Given the description of an element on the screen output the (x, y) to click on. 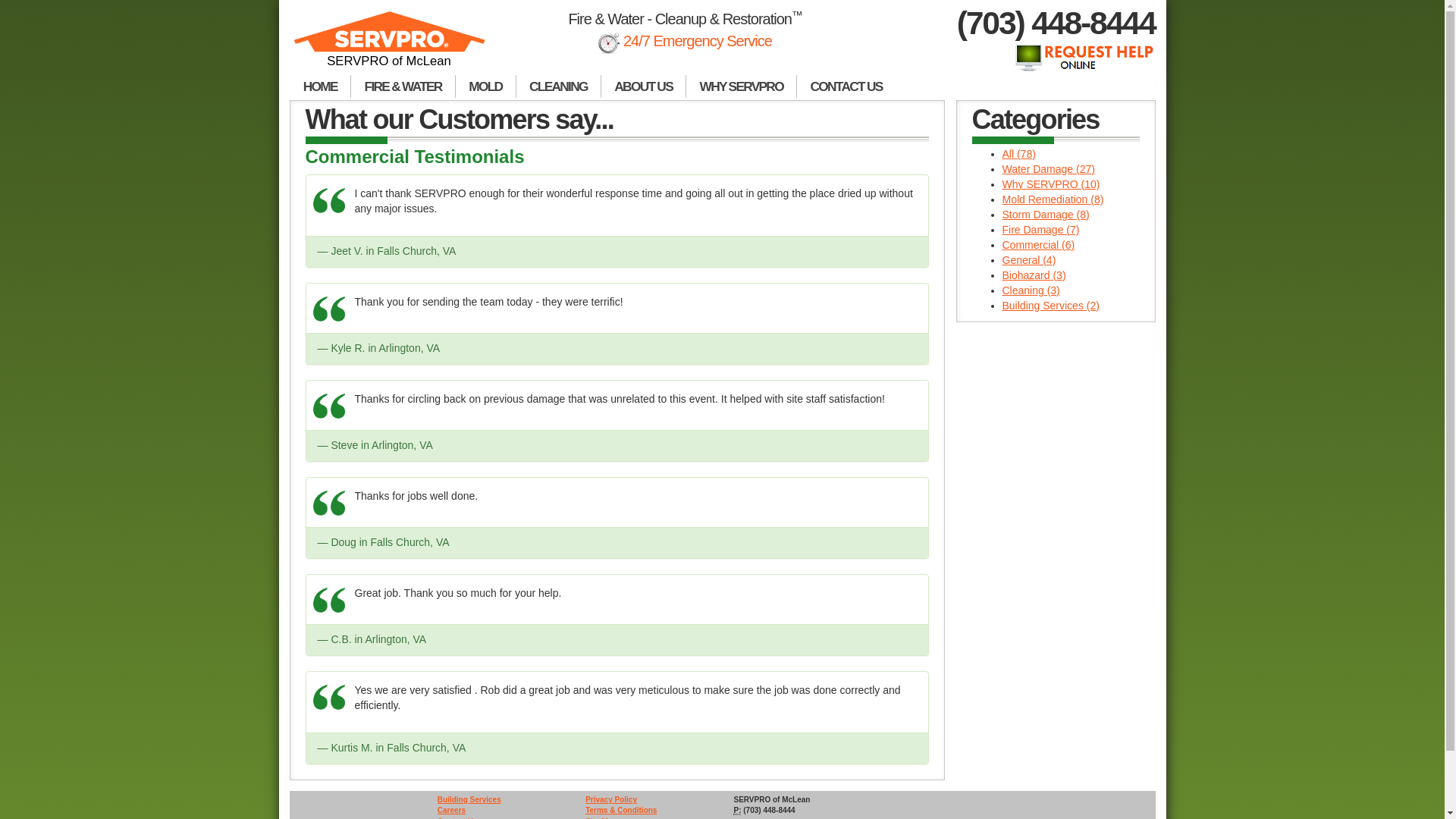
MOLD (485, 87)
SERVPRO of McLean (389, 45)
HOME (319, 87)
ABOUT US (643, 87)
CLEANING (558, 87)
